Given the description of an element on the screen output the (x, y) to click on. 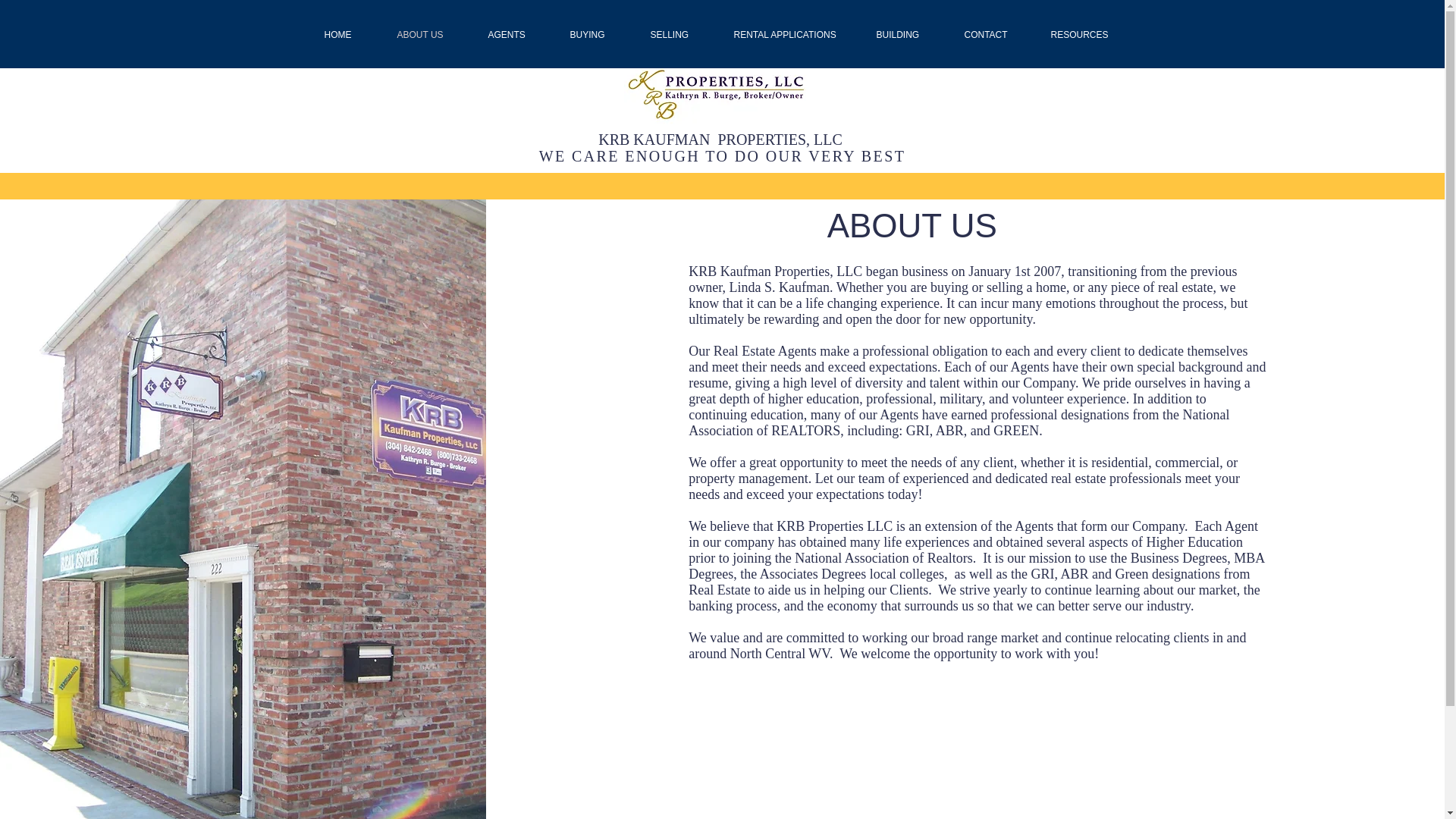
BUILDING (908, 35)
HOME (349, 35)
ABOUT US (430, 35)
RENTAL APPLICATIONS (793, 35)
AGENTS (516, 35)
SELLING (680, 35)
BUYING (598, 35)
RESOURCES (1087, 35)
CONTACT (995, 35)
